Given the description of an element on the screen output the (x, y) to click on. 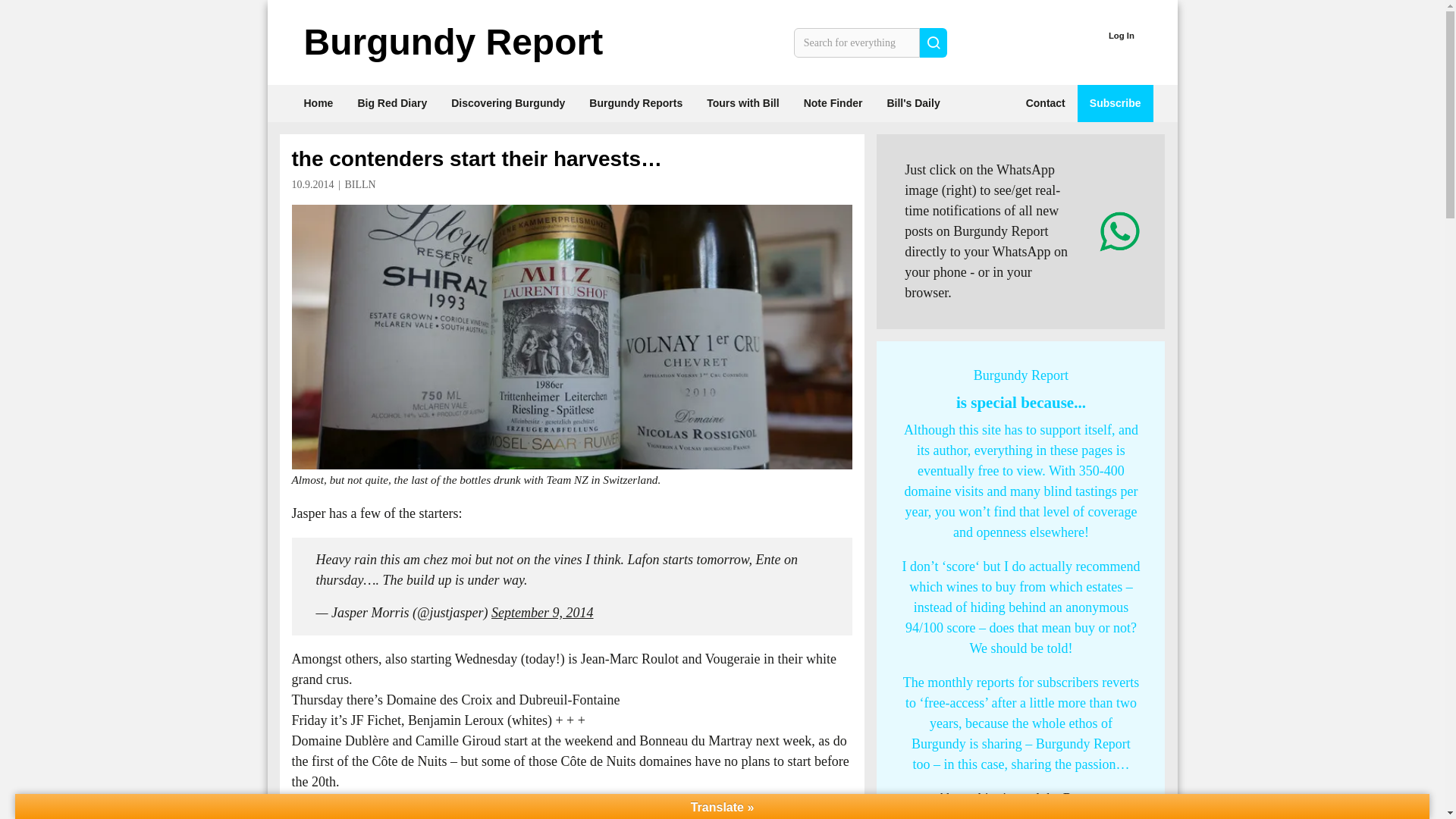
About this site and the Reports (1020, 798)
BILLN (359, 184)
September 9, 2014 (542, 612)
